Given the description of an element on the screen output the (x, y) to click on. 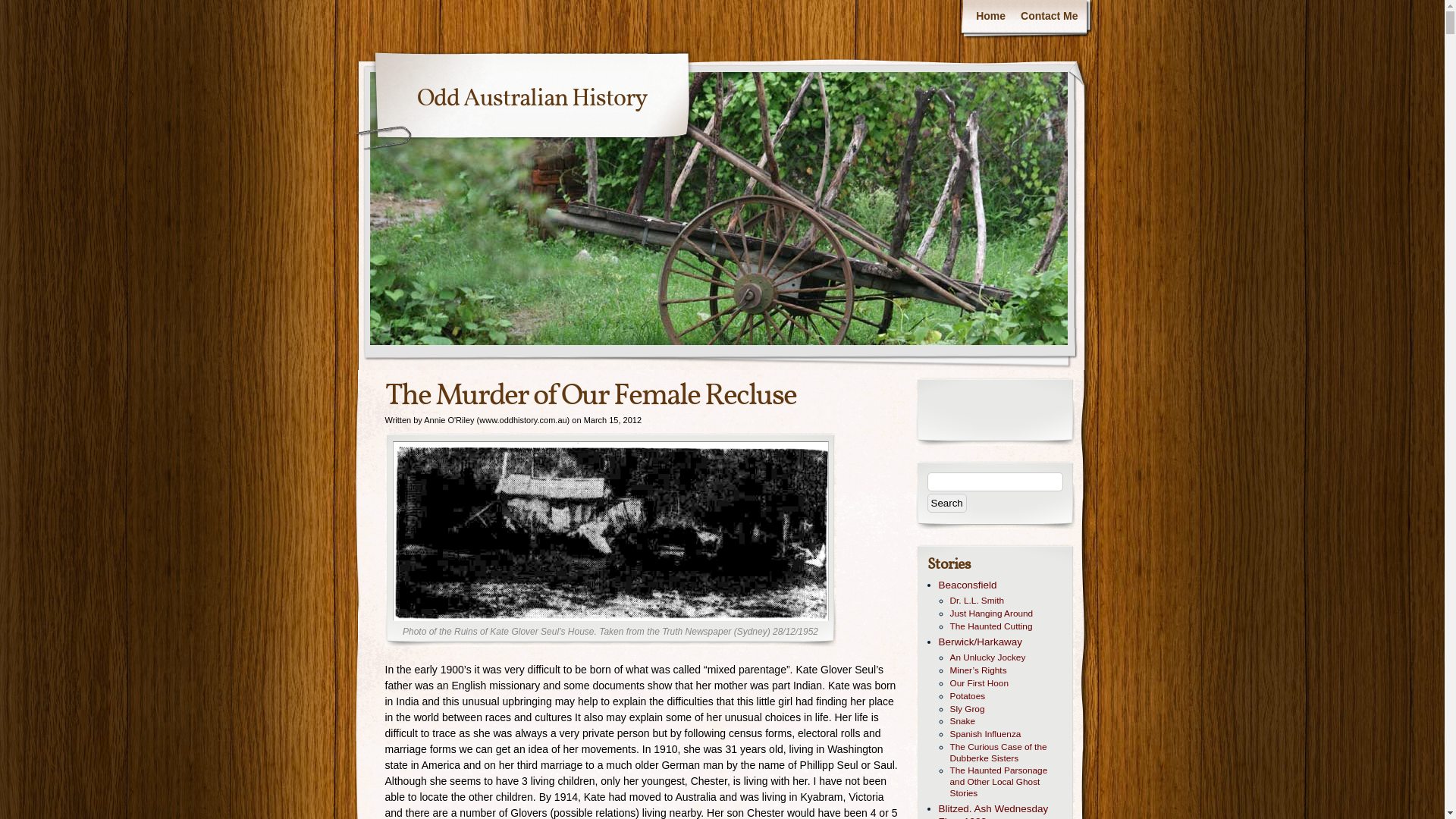
Beaconsfield Element type: text (1000, 584)
Home Element type: text (990, 16)
The Haunted Cutting Element type: text (1006, 626)
The Curious Case of the Dubberke Sisters Element type: text (1006, 752)
Spanish Influenza Element type: text (1006, 734)
Contact Me Element type: text (1049, 16)
The Haunted Parsonage and Other Local Ghost Stories Element type: text (1006, 781)
Odd Australian History Element type: text (532, 99)
Sly Grog Element type: text (1006, 708)
Dr. L.L. Smith Element type: text (1006, 600)
An Unlucky Jockey Element type: text (1006, 657)
Our First Hoon Element type: text (1006, 683)
Potatoes Element type: text (1006, 696)
Berwick/Harkaway Element type: text (1000, 642)
Just Hanging Around Element type: text (1006, 613)
Snake Element type: text (1006, 721)
Search Element type: text (946, 501)
